Given the description of an element on the screen output the (x, y) to click on. 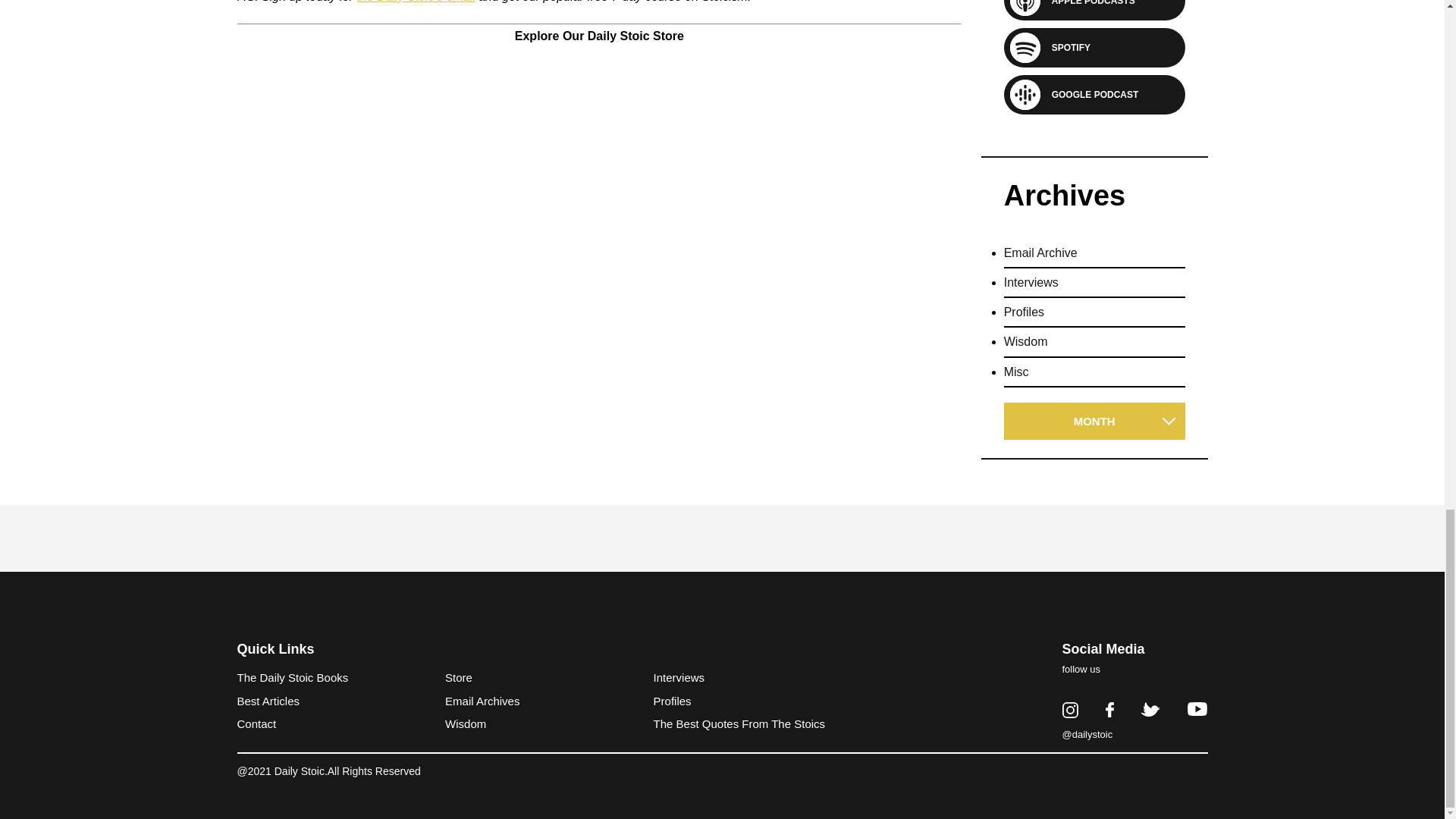
Interviews (1031, 289)
Profiles (1023, 319)
GOOGLE PODCAST (1089, 94)
Wisdom (1026, 348)
APPLE PODCASTS (1088, 4)
Email Archive (1040, 260)
SPOTIFY (1065, 47)
Misc (1016, 379)
